Given the description of an element on the screen output the (x, y) to click on. 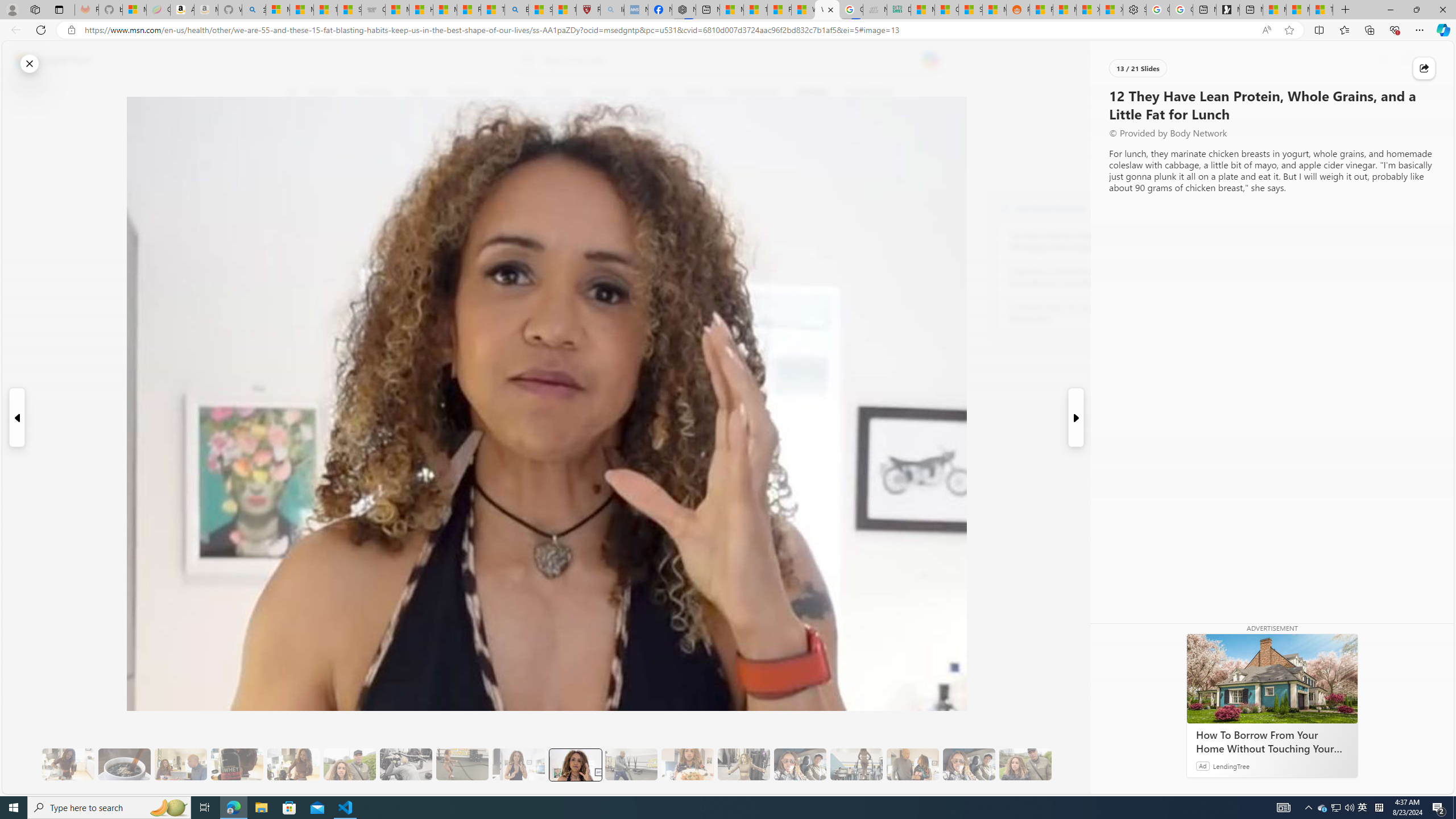
Lifestyle (812, 92)
20 Overall, It Will Improve Your Health (1024, 764)
Open navigation menu (292, 92)
Entertainment (753, 92)
Body Network (449, 147)
Science (558, 92)
Body Network (1004, 207)
11 They Eat More Protein for Breakfast (518, 764)
Science - MSN (540, 9)
These 3 Stocks Pay You More Than 5% to Own Them (1321, 9)
